Given the description of an element on the screen output the (x, y) to click on. 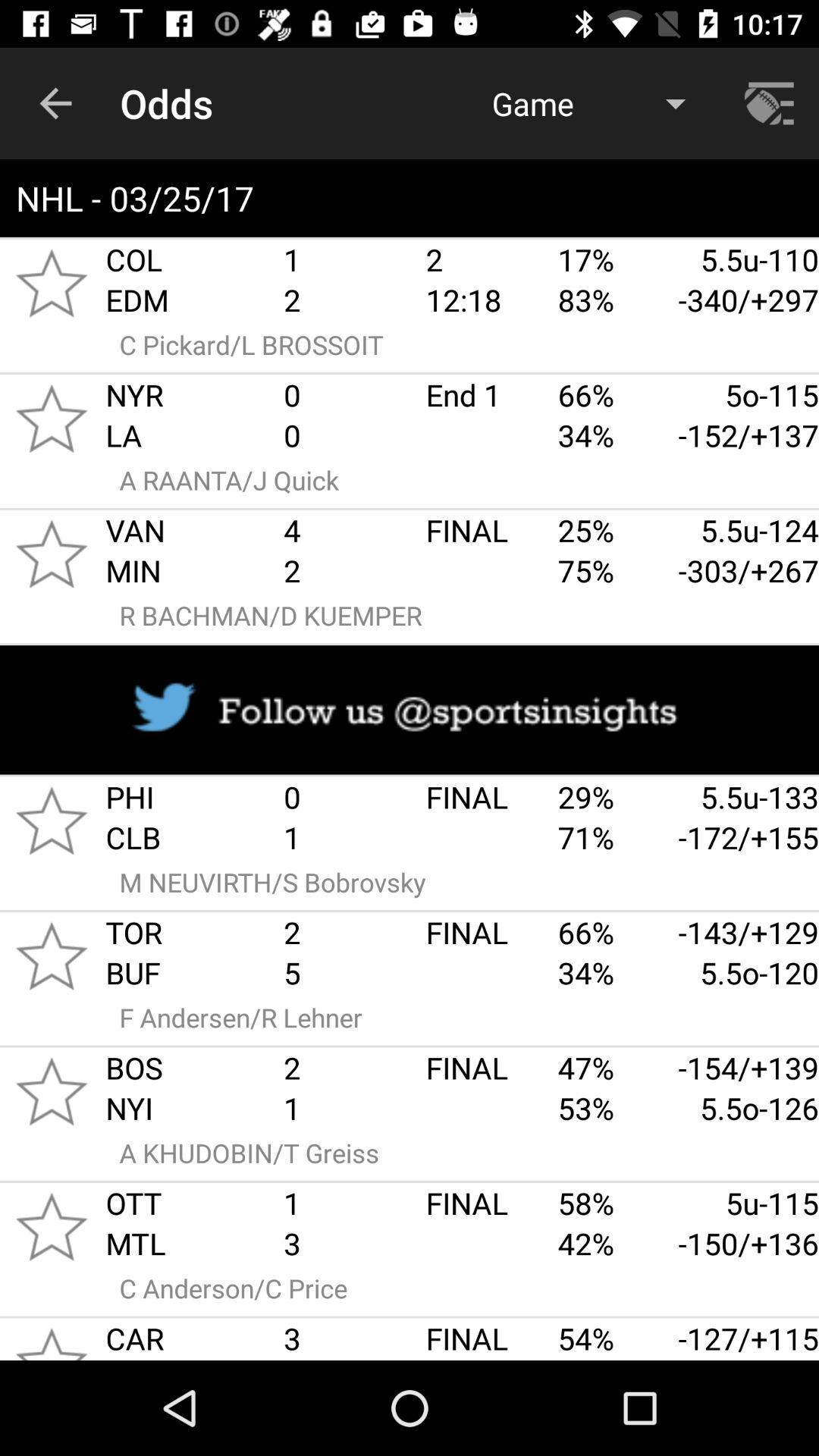
go to rating (51, 1091)
